Given the description of an element on the screen output the (x, y) to click on. 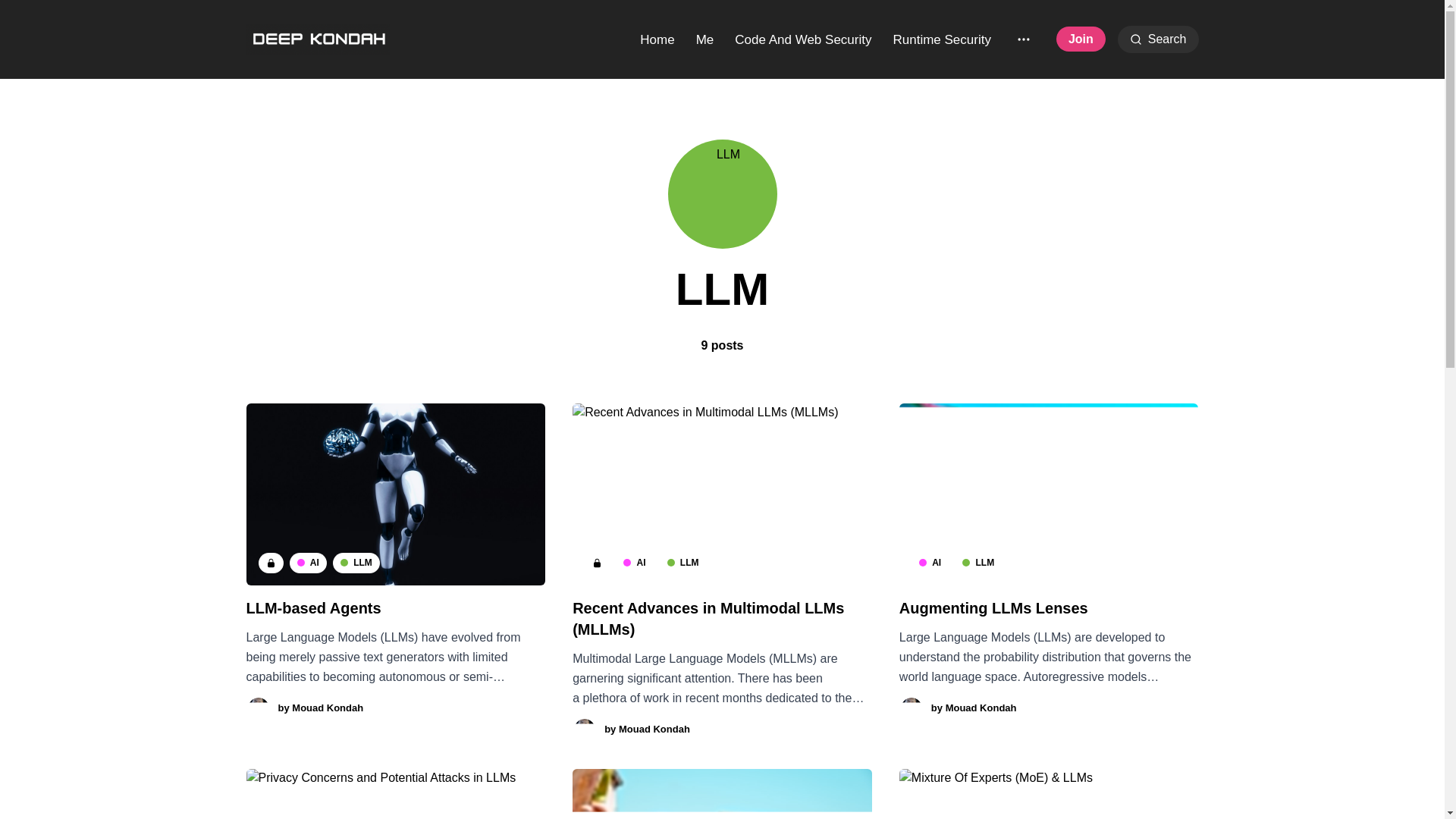
Join (1081, 38)
Code And Web Security (802, 39)
Augmenting LLMs Lenses (993, 607)
Mouad Kondah (654, 728)
Mouad Kondah (980, 707)
LLM (356, 562)
AI (930, 562)
LLM (978, 562)
Home (657, 39)
Me (704, 39)
